Given the description of an element on the screen output the (x, y) to click on. 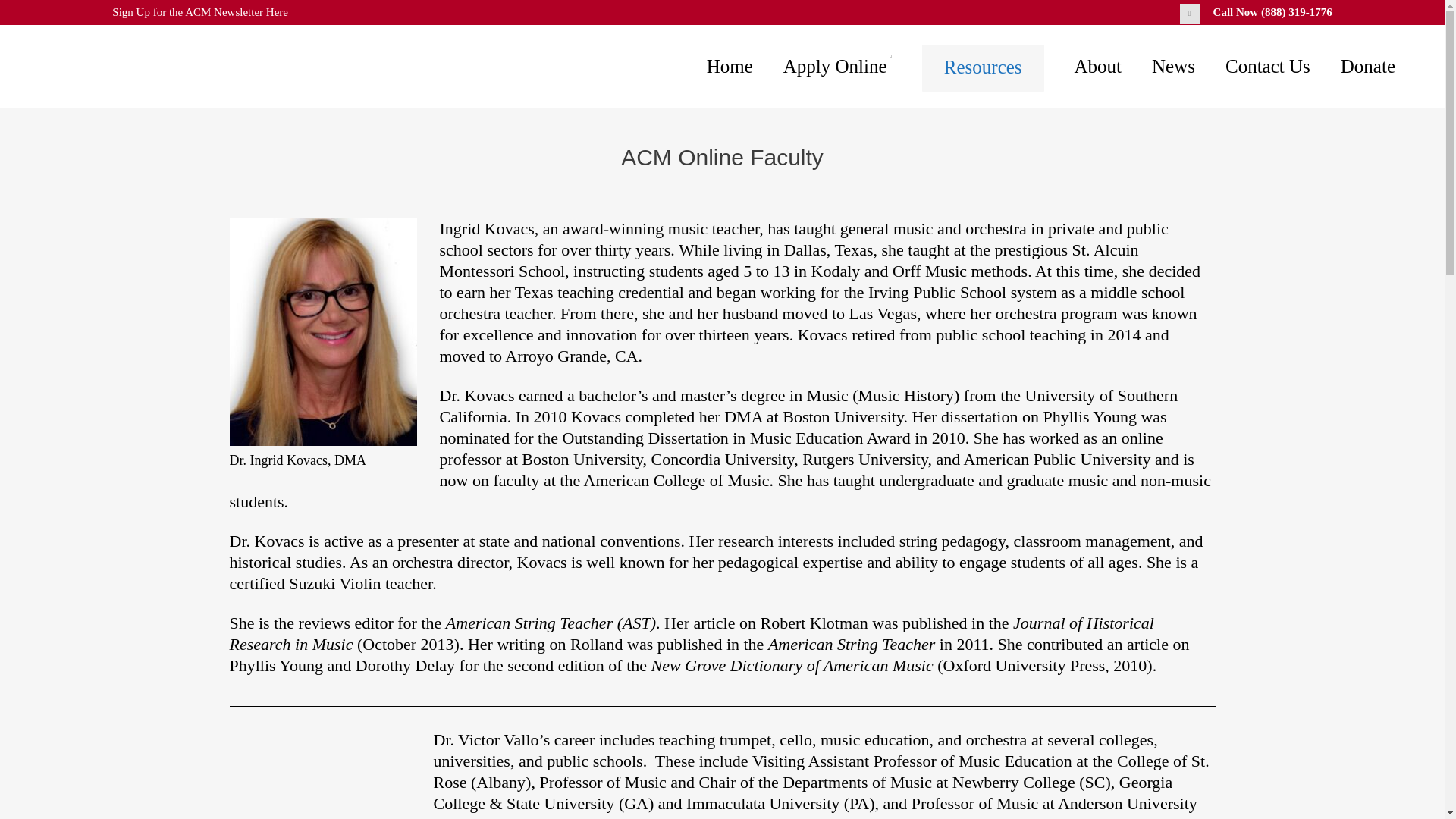
Resources (983, 66)
Home (729, 66)
Apply Online (837, 66)
Page 1 (721, 685)
About (1098, 66)
Donate (1367, 66)
Contact Us (1266, 66)
Sign Up for the ACM Newsletter Here (200, 11)
